Given the description of an element on the screen output the (x, y) to click on. 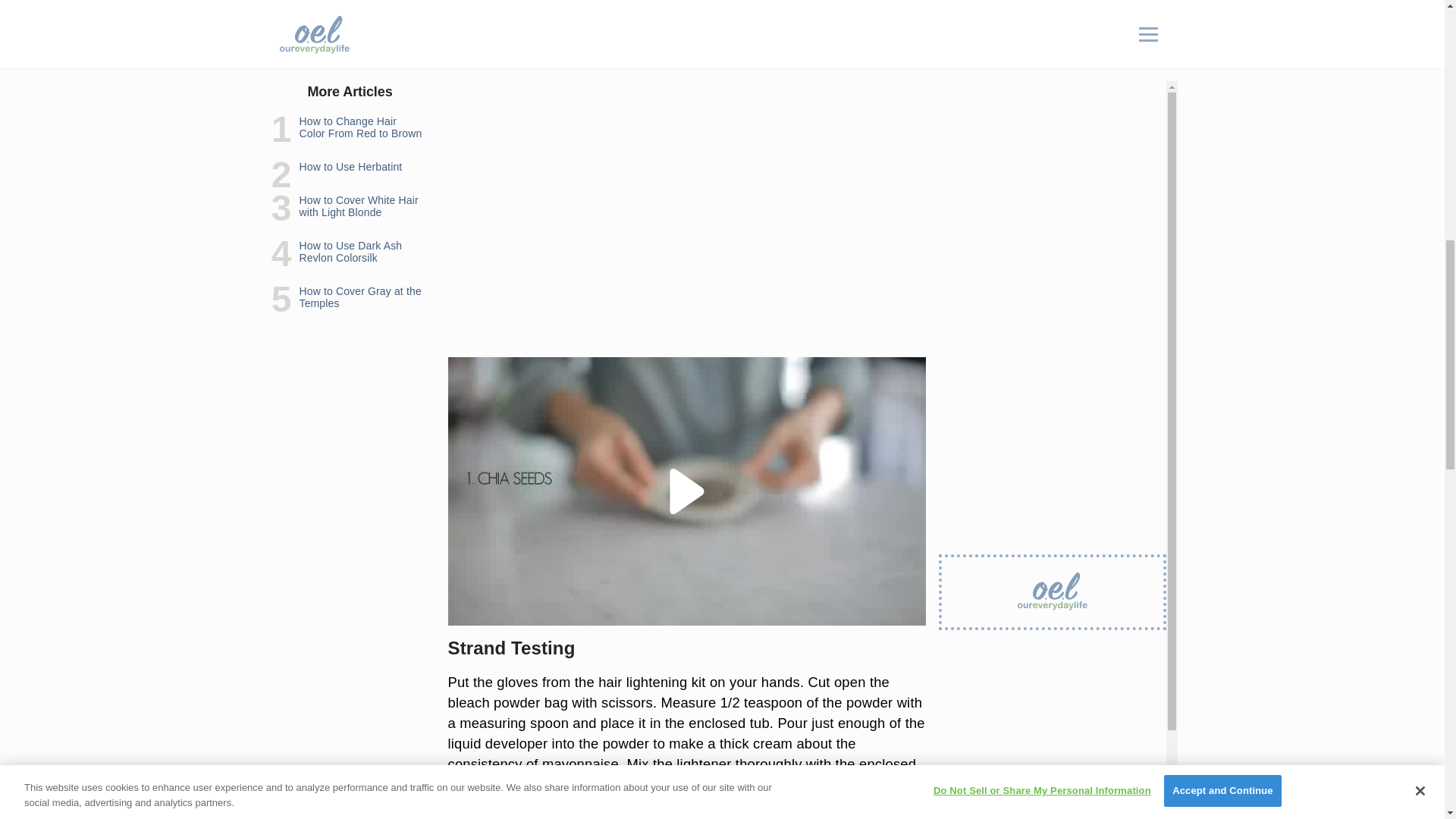
3rd party ad content (1052, 76)
3rd party ad content (686, 54)
Advertisement (686, 238)
